Given the description of an element on the screen output the (x, y) to click on. 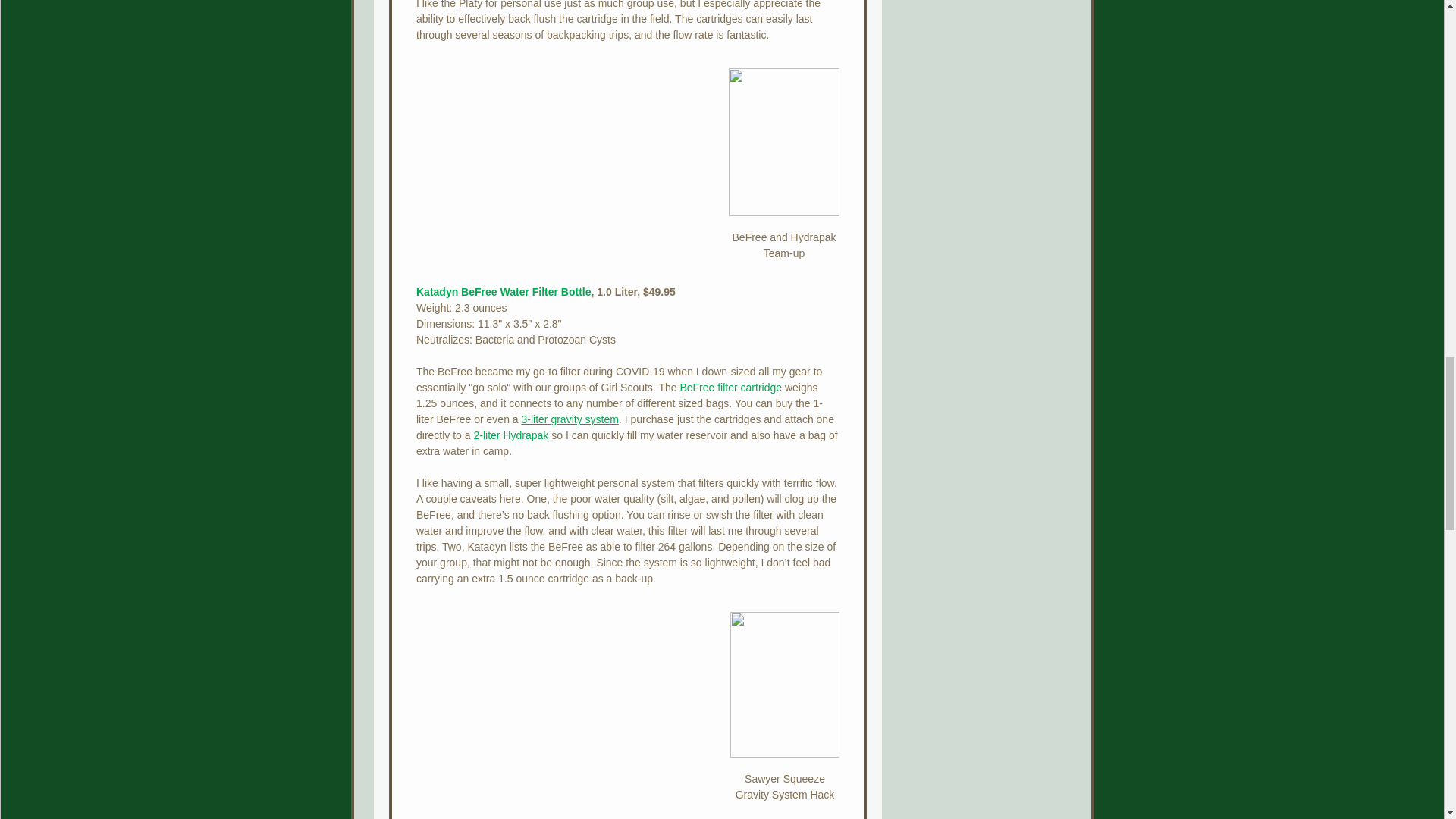
BeFree filter cartridge (730, 387)
2-liter Hydrapak (510, 435)
3-liter gravity system (569, 419)
Katadyn BeFree Water Filter Bottle (502, 291)
